Given the description of an element on the screen output the (x, y) to click on. 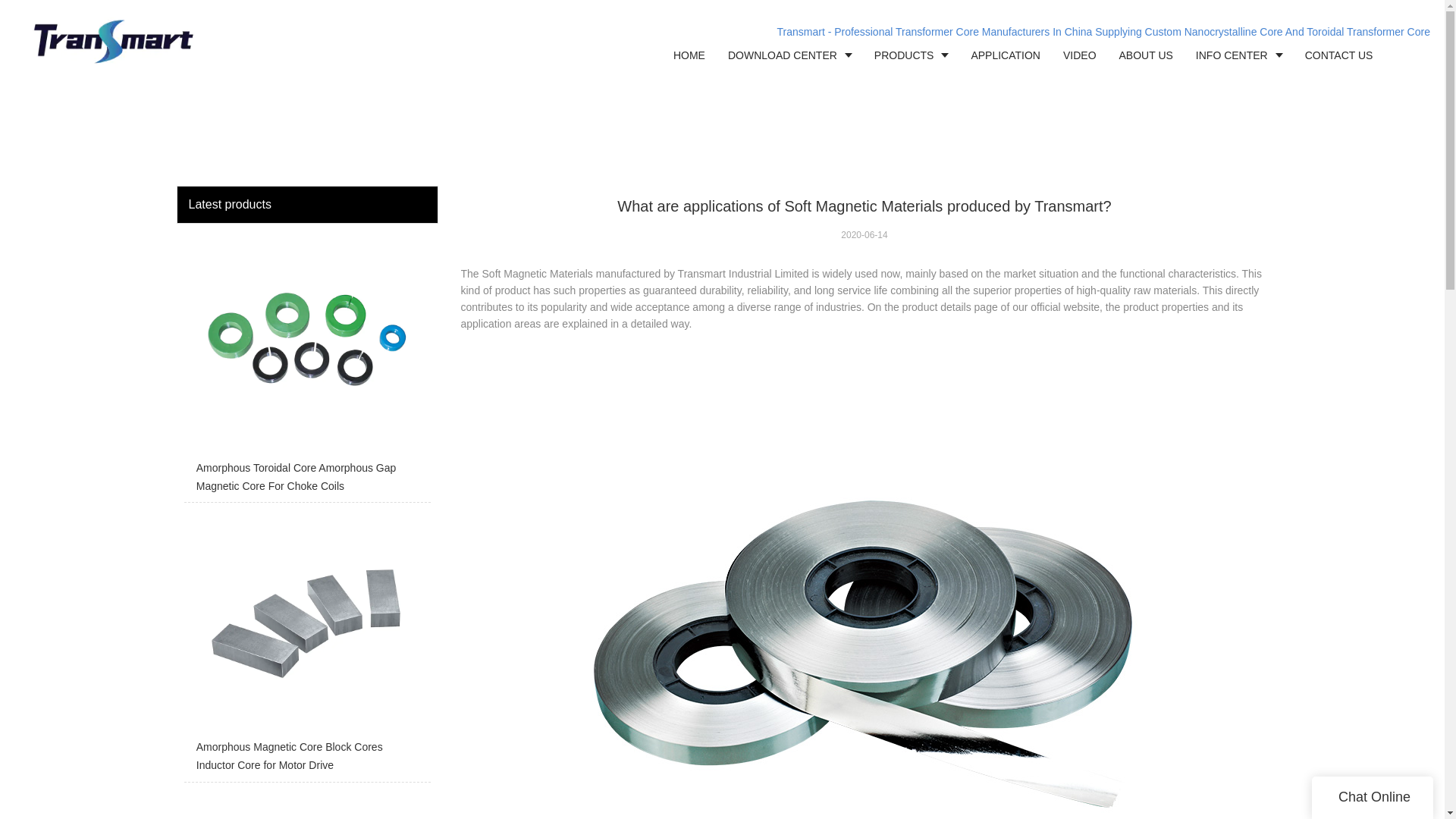
APPLICATION (1005, 55)
VIDEO (1079, 55)
INFO CENTER (1239, 55)
PRODUCTS (911, 55)
ABOUT US (1146, 55)
CONTACT US (1339, 55)
DOWNLOAD CENTER (789, 55)
HOME (689, 55)
